Given the description of an element on the screen output the (x, y) to click on. 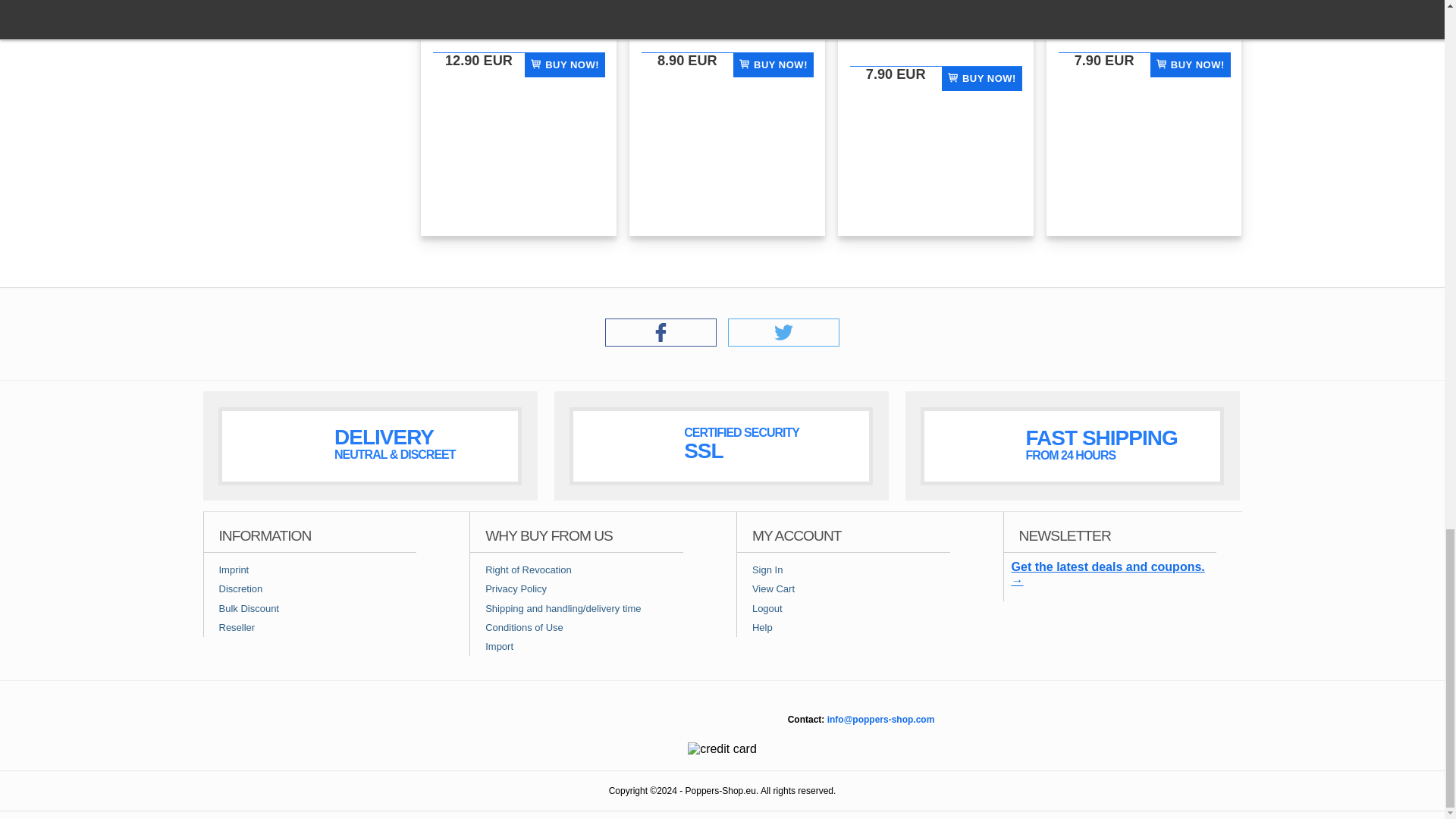
Facebook (660, 341)
Twitter (784, 341)
credit card (722, 748)
